Given the description of an element on the screen output the (x, y) to click on. 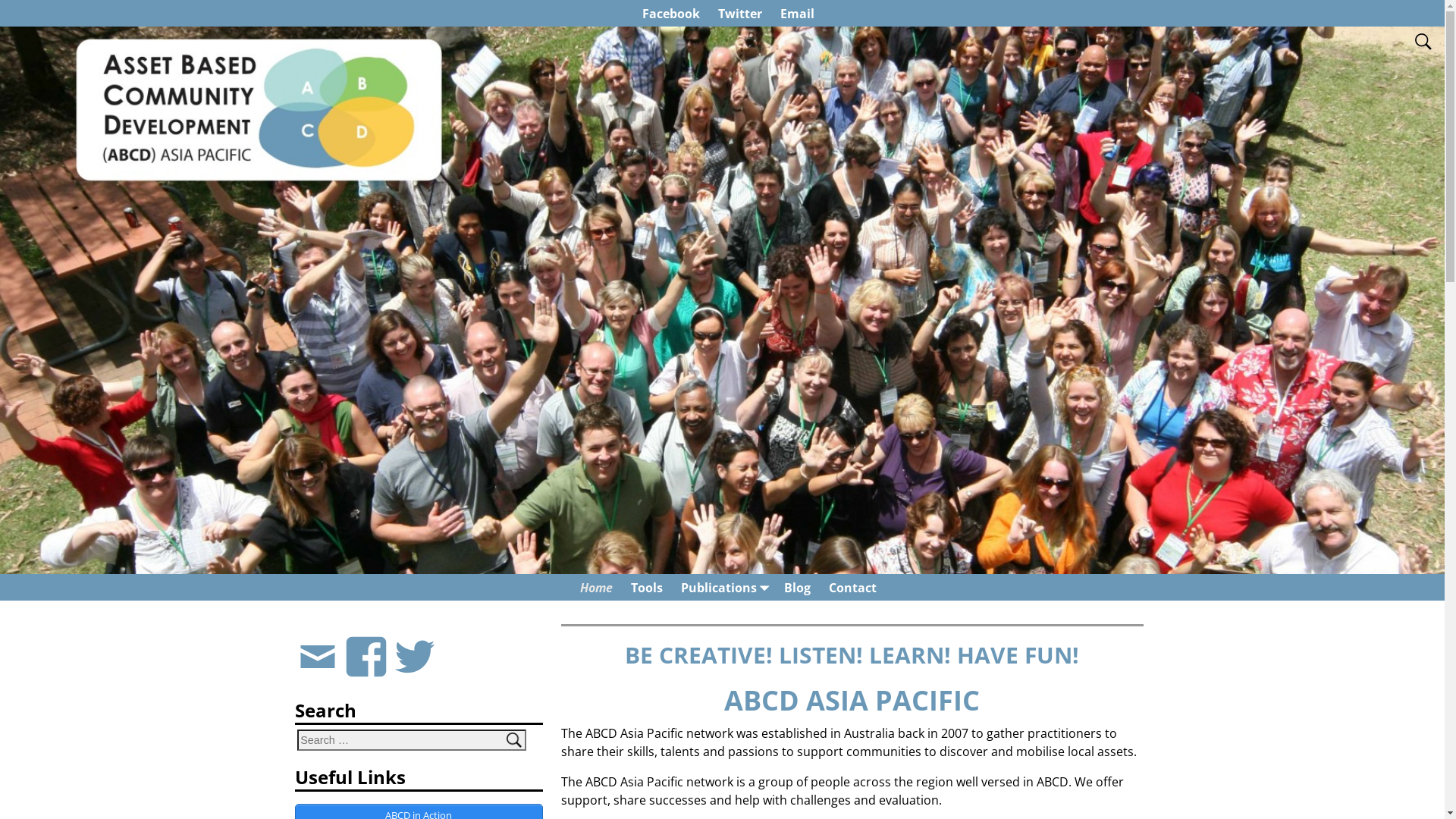
Send Email to this Site's Admin Element type: hover (317, 641)
Facebook: social networking Element type: hover (366, 641)
Publications Element type: text (723, 587)
Tools Element type: text (646, 587)
Blog Element type: text (797, 587)
Twitter Element type: text (740, 13)
Search Element type: text (21, 7)
ABCD on Twitter Element type: hover (414, 641)
Contact Element type: text (852, 587)
Email Element type: text (797, 13)
Home Element type: text (596, 587)
Facebook Element type: text (671, 13)
